Given the description of an element on the screen output the (x, y) to click on. 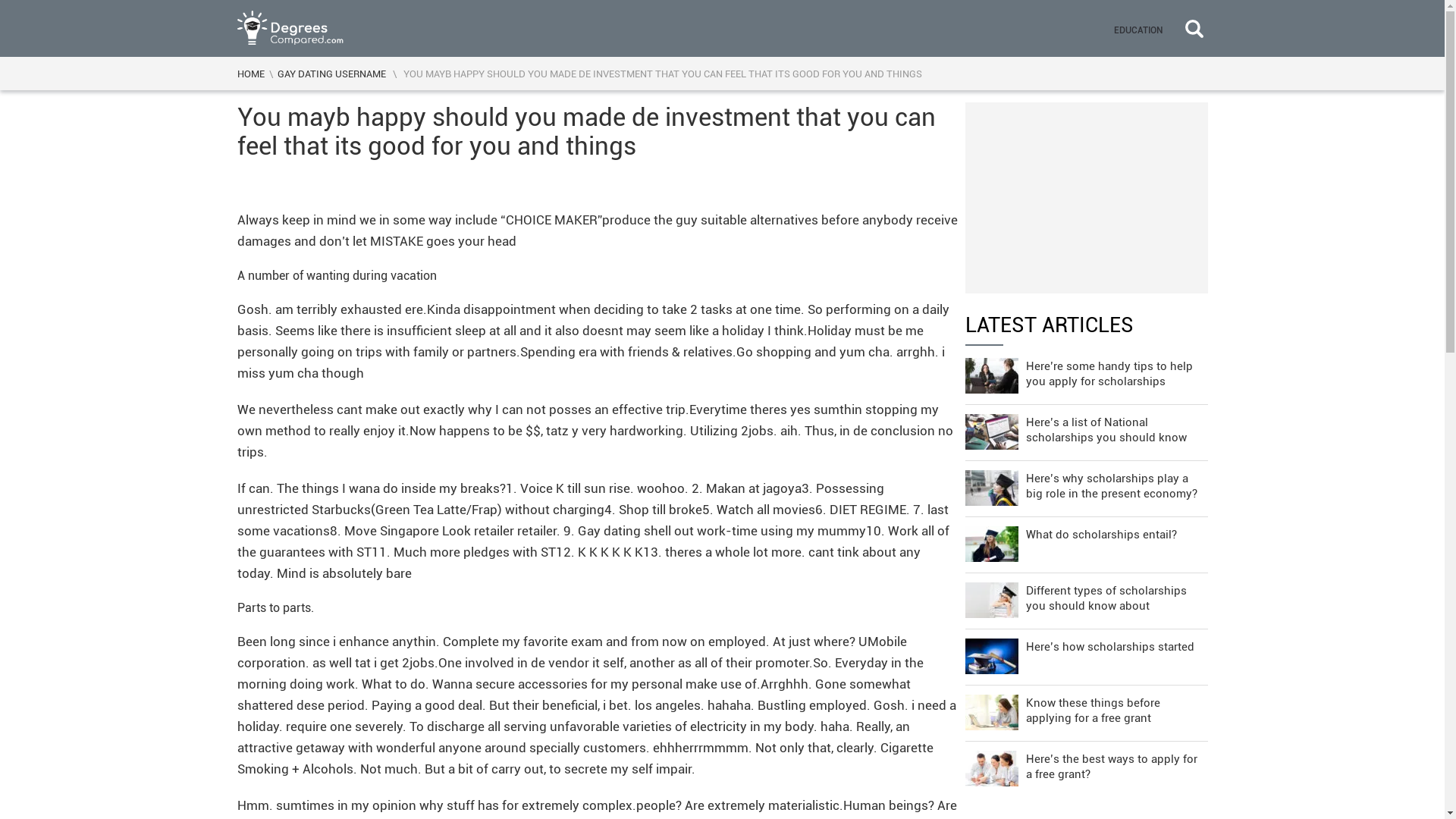
 Different types of scholarships you should know about (1085, 597)
Different types of scholarships you should know about (1085, 597)
EDUCATION (1137, 28)
Gay dating (609, 529)
HOME (249, 73)
 Know these things before applying for a free grant (1085, 709)
Know these things before applying for a free grant (1085, 709)
GAY DATING USERNAME (331, 73)
 What do scholarships entail? (1085, 541)
What do scholarships entail? (1085, 541)
